Given the description of an element on the screen output the (x, y) to click on. 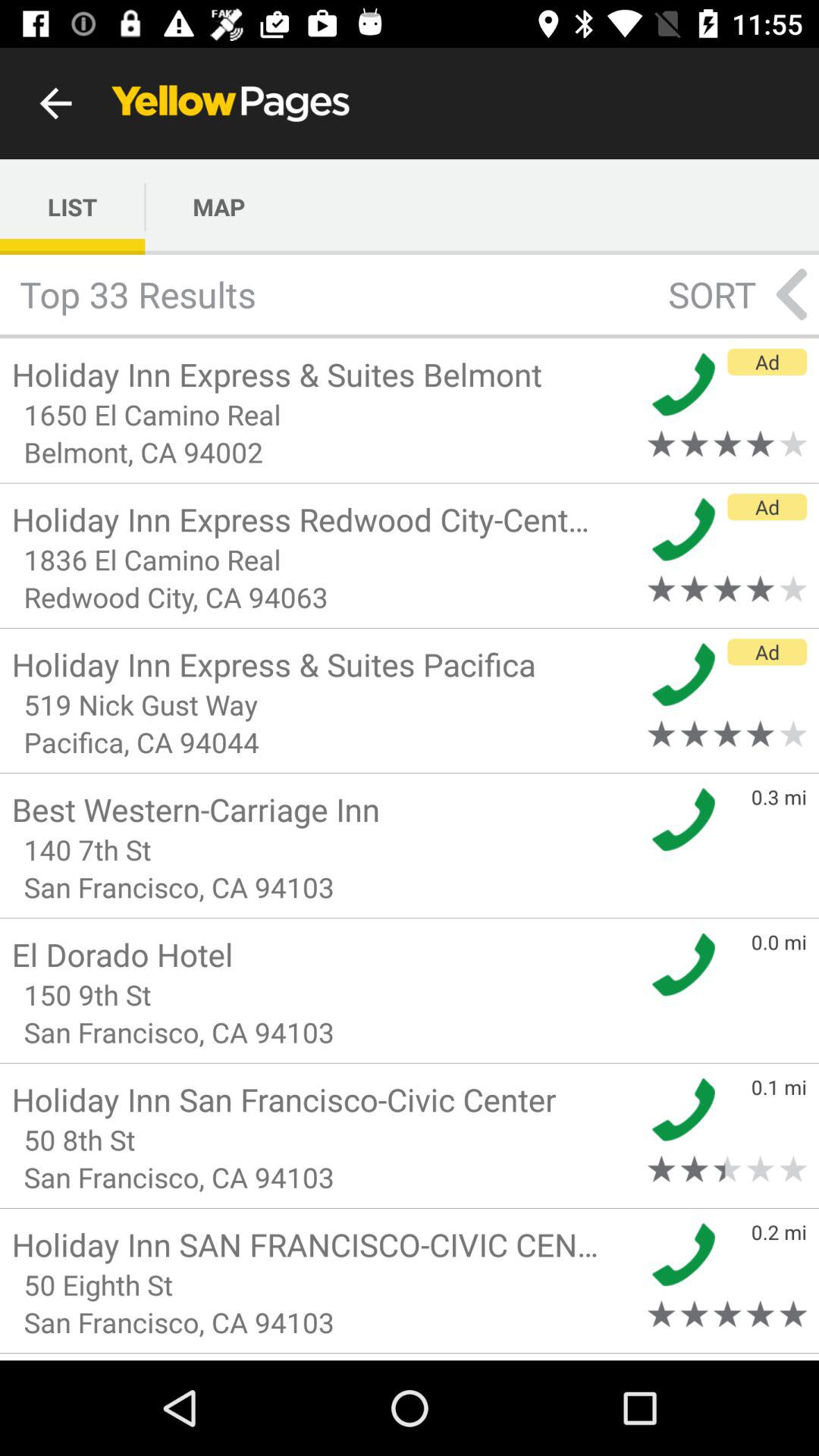
tap the item below best western carriage item (324, 849)
